Given the description of an element on the screen output the (x, y) to click on. 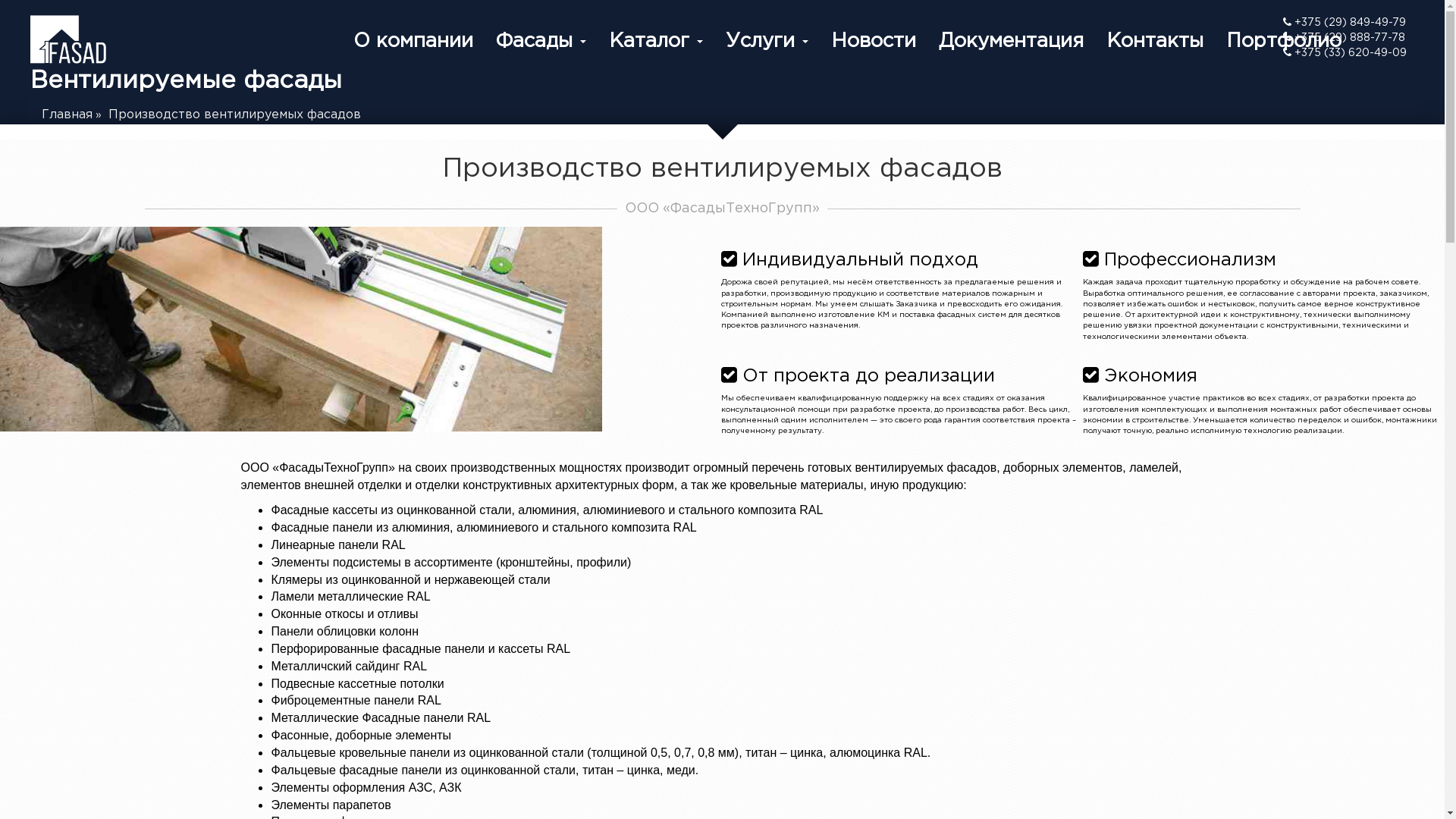
+375 (29) 888-77-78 Element type: text (1344, 37)
+375 (29) 849-49-79 Element type: text (1344, 22)
+375 (33) 620-49-09 Element type: text (1344, 52)
